Given the description of an element on the screen output the (x, y) to click on. 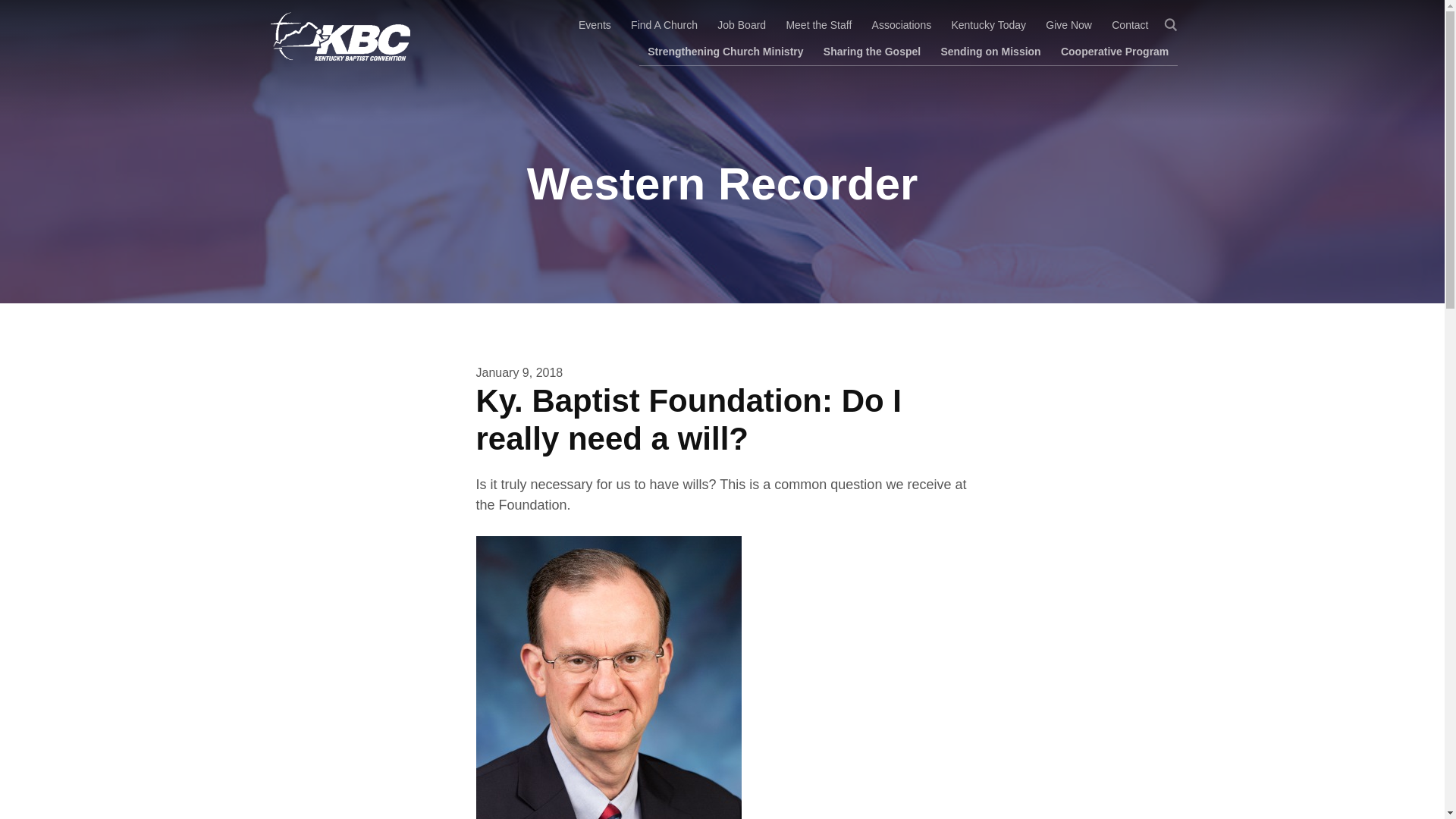
Kentucky Baptist Convention (337, 36)
